Given the description of an element on the screen output the (x, y) to click on. 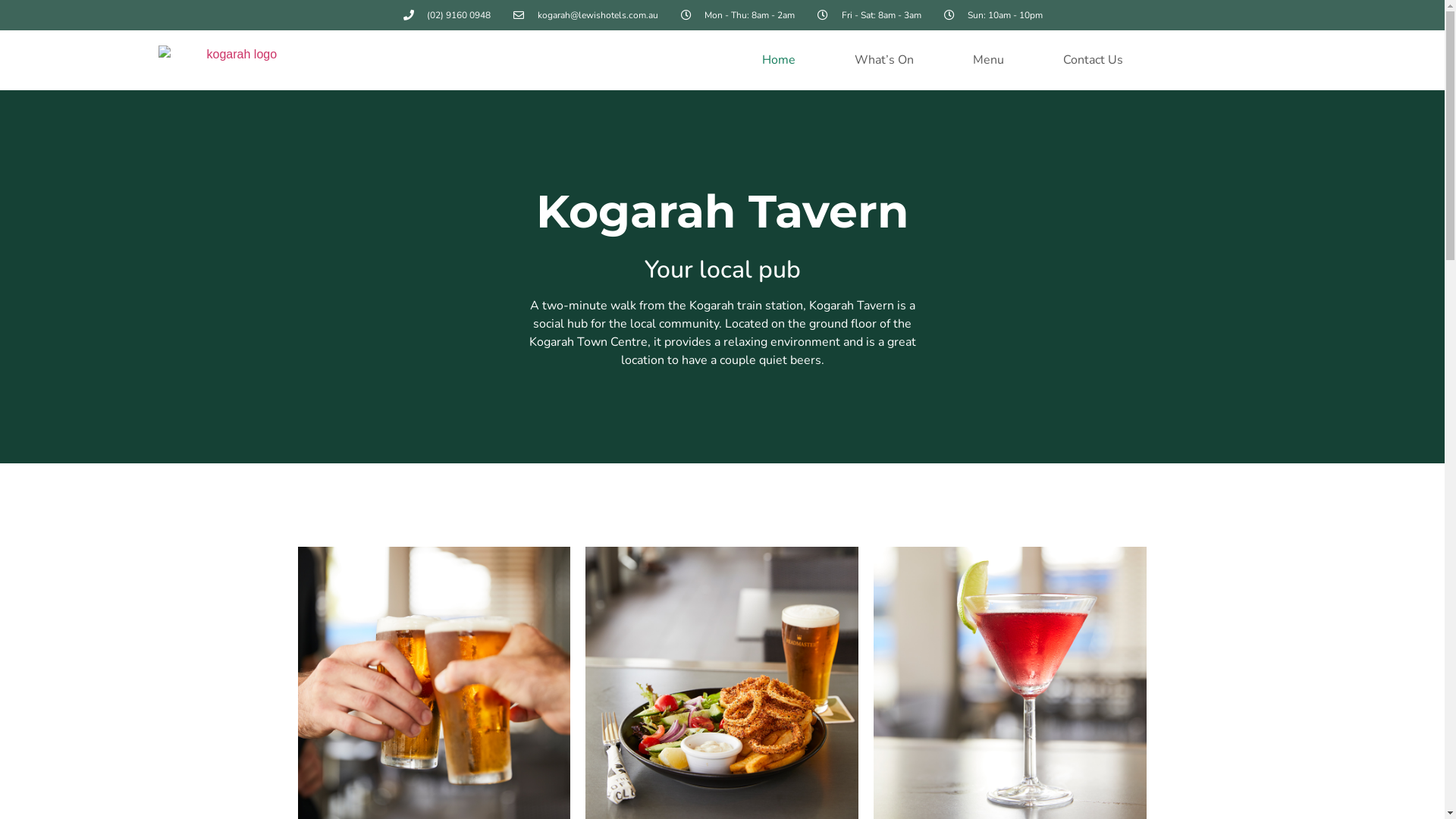
Contact Us Element type: text (1092, 59)
(02) 9160 0948 Element type: text (446, 14)
Home Element type: text (778, 59)
Menu Element type: text (988, 59)
kogarah@lewishotels.com.au Element type: text (584, 14)
